Given the description of an element on the screen output the (x, y) to click on. 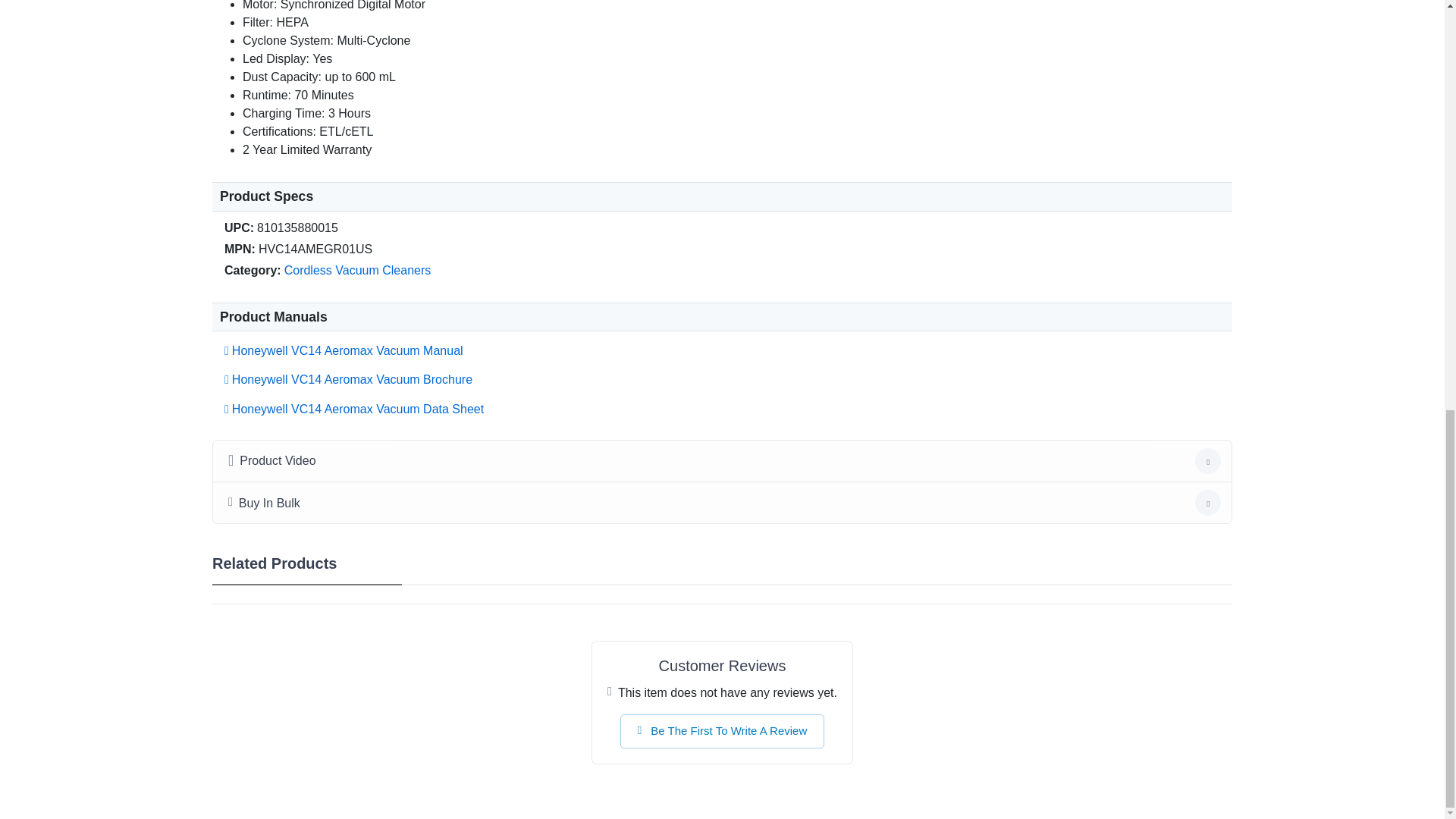
View All Cordless Vacuum Cleaners (356, 269)
